Given the description of an element on the screen output the (x, y) to click on. 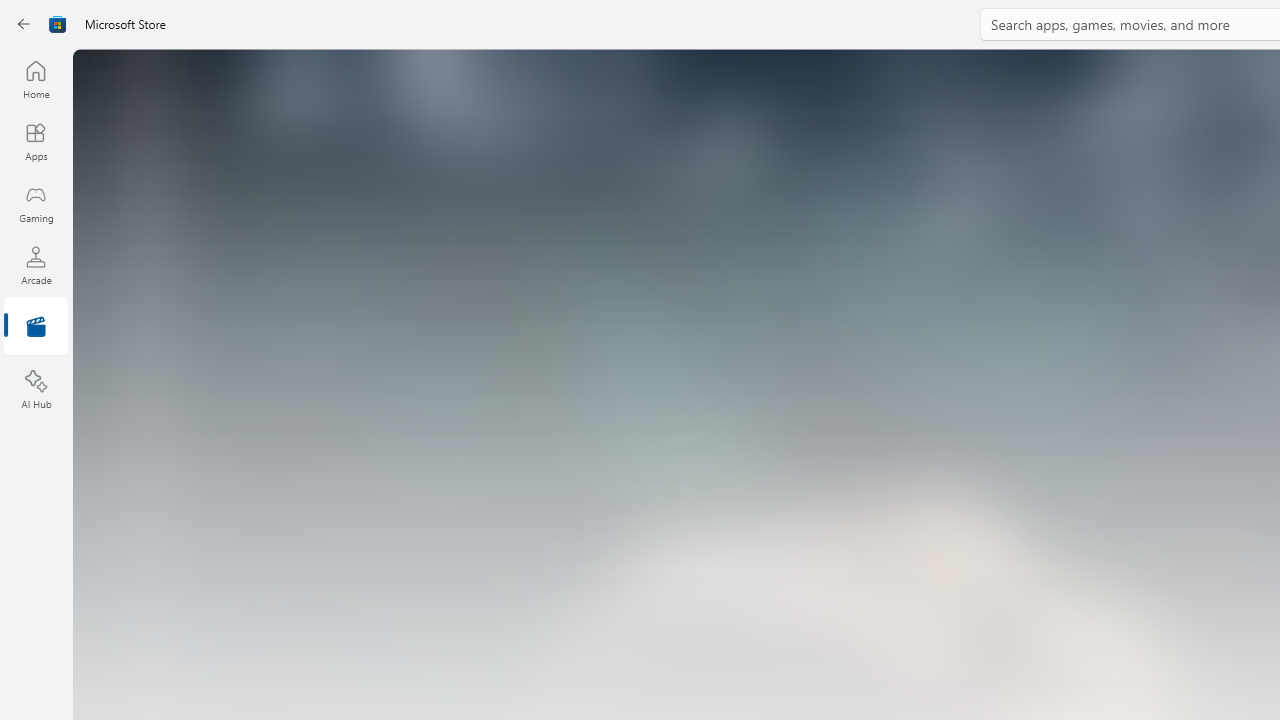
Back (24, 24)
